Given the description of an element on the screen output the (x, y) to click on. 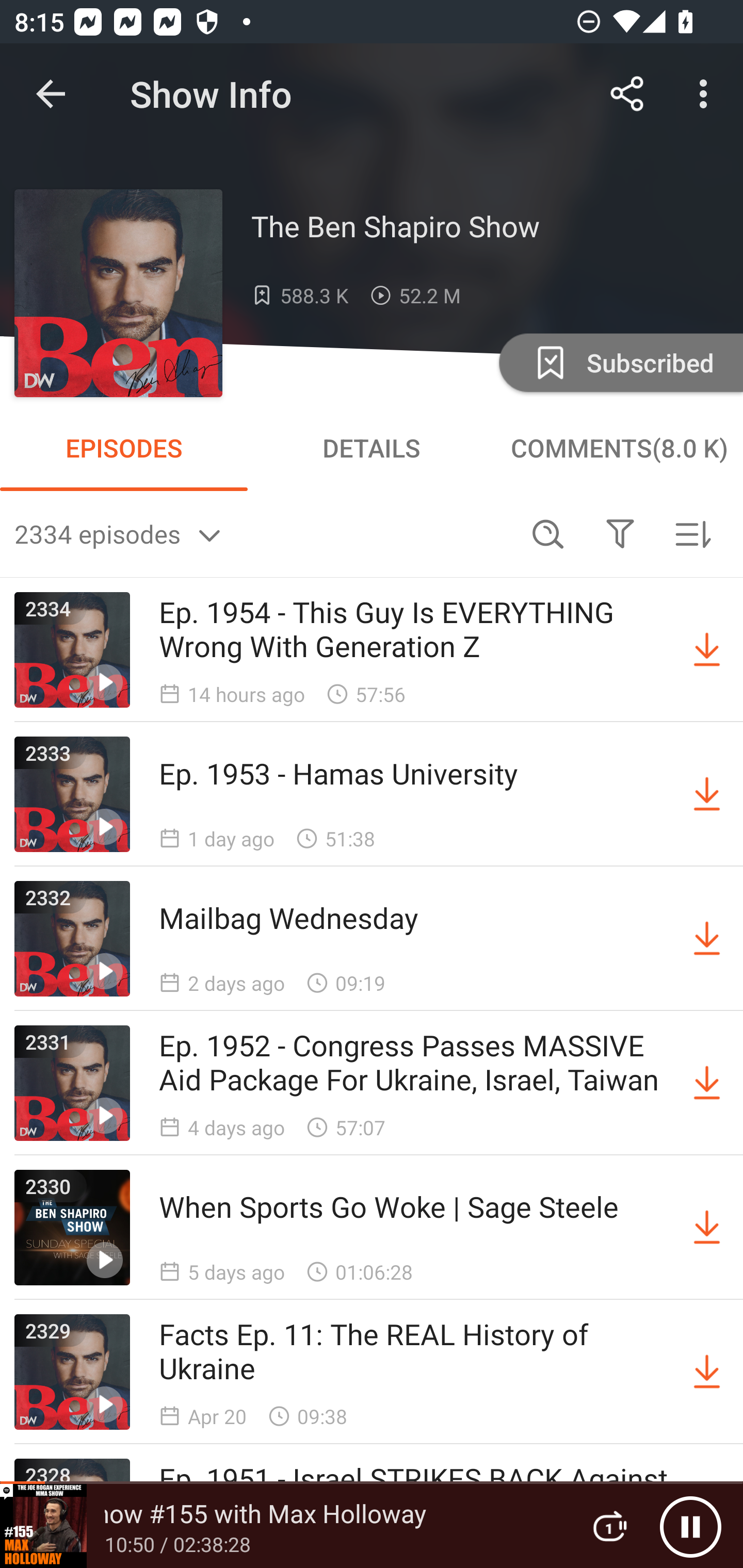
Navigate up (50, 93)
Share (626, 93)
More options (706, 93)
Unsubscribe Subscribed (619, 361)
EPISODES (123, 447)
DETAILS (371, 447)
COMMENTS(8.0 K) (619, 447)
2334 episodes  (262, 533)
 Search (547, 533)
 (619, 533)
 Sorted by newest first (692, 533)
Download (706, 649)
Download (706, 793)
